Given the description of an element on the screen output the (x, y) to click on. 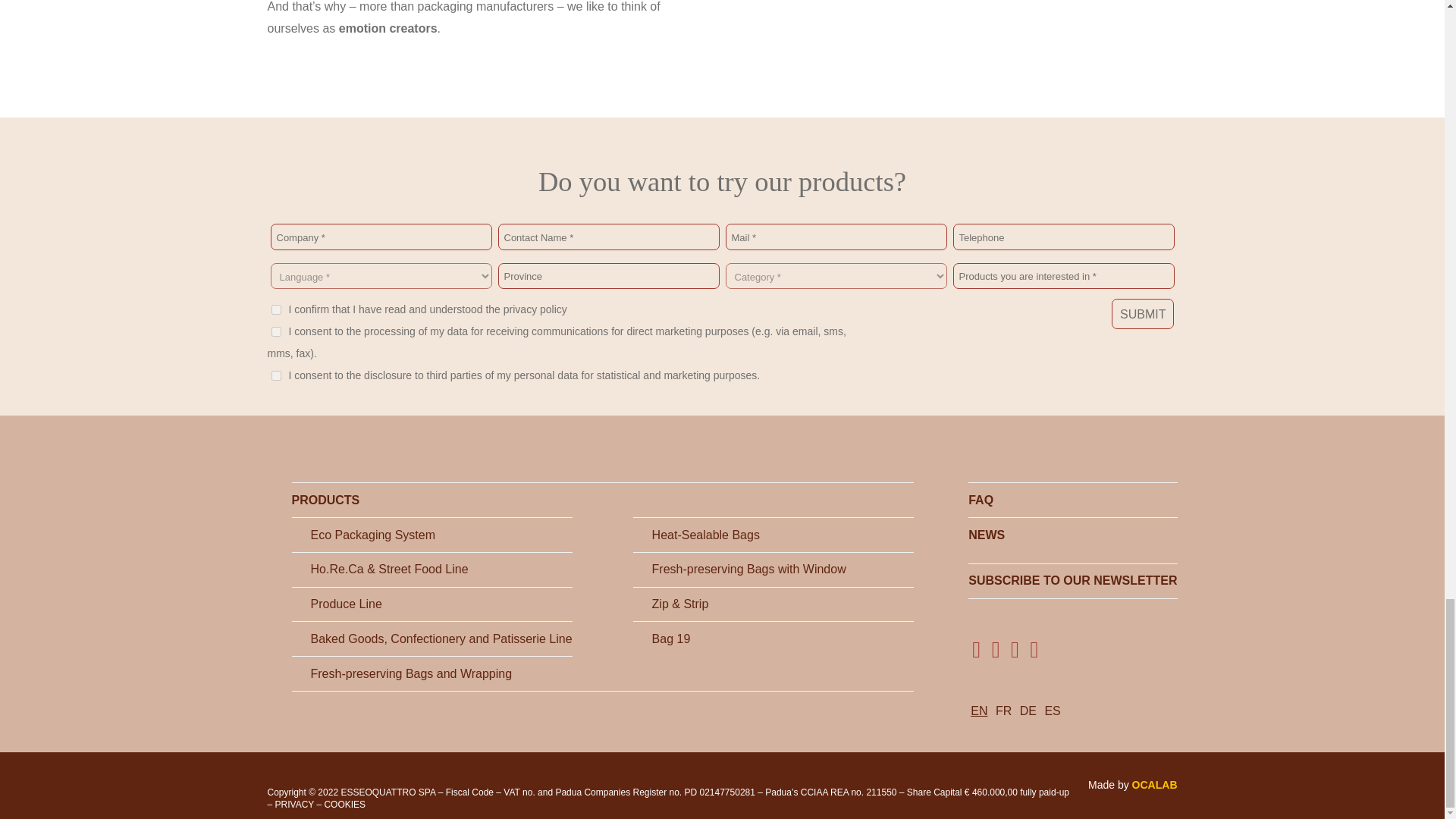
1 (275, 309)
1 (275, 375)
SUBMIT (1142, 313)
1 (275, 331)
